Given the description of an element on the screen output the (x, y) to click on. 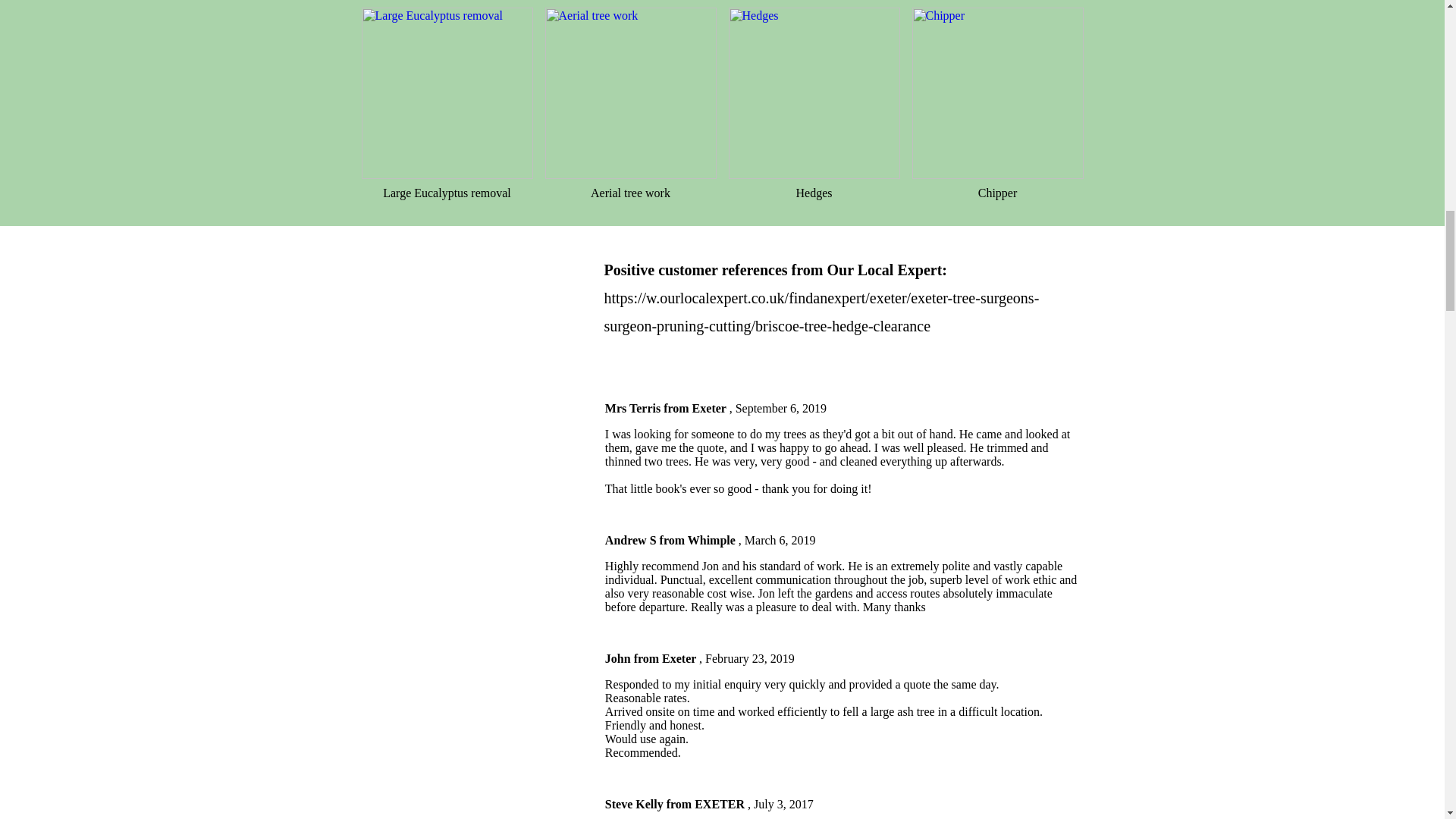
Aerial tree work (630, 93)
Hedges (813, 93)
Chipper (997, 93)
Large Eucalyptus removal (446, 93)
